Given the description of an element on the screen output the (x, y) to click on. 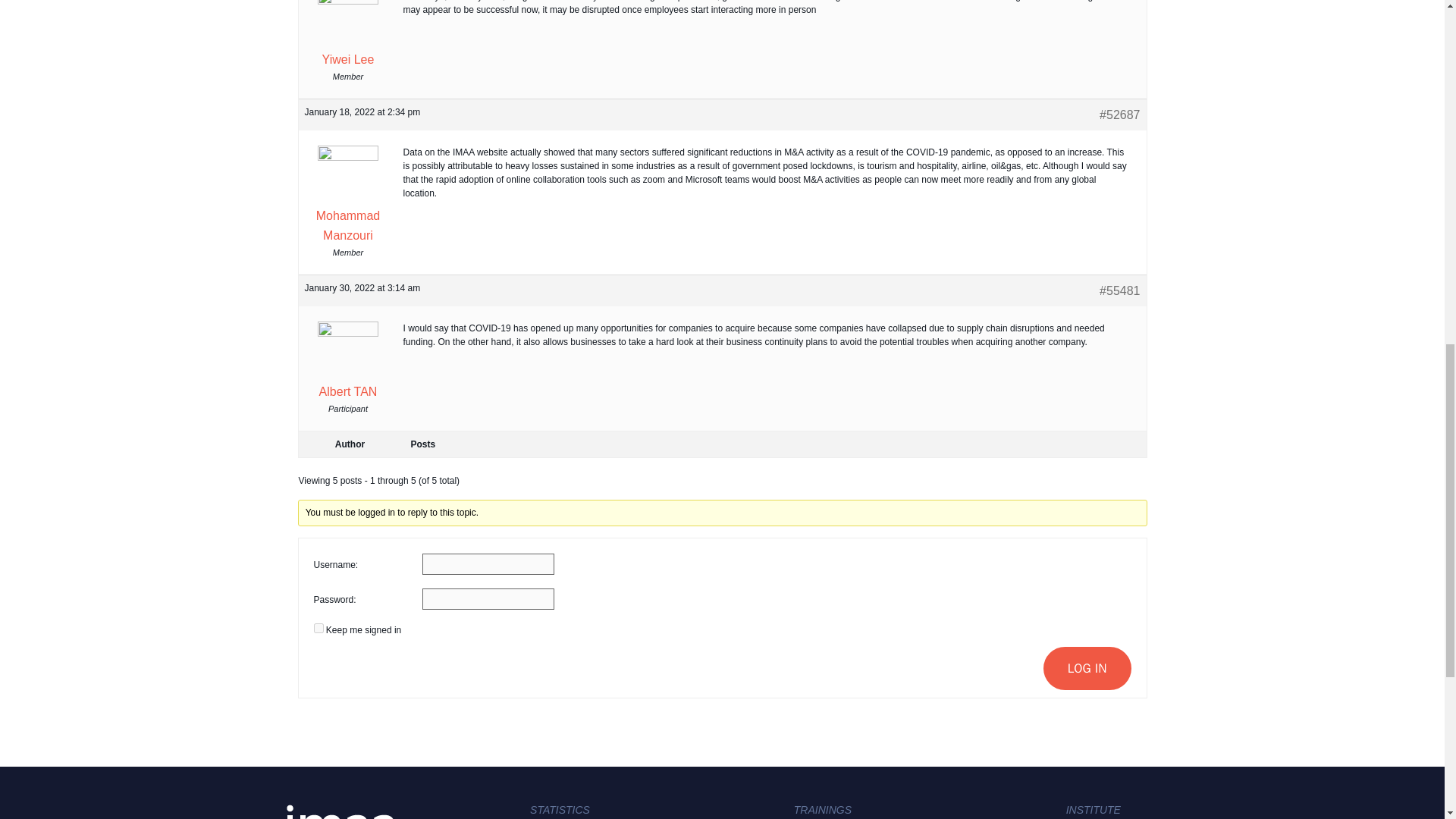
View Albert TAN's profile (347, 363)
View Mohammad Manzouri's profile (347, 196)
forever (318, 628)
View Yiwei Lee's profile (347, 34)
